Given the description of an element on the screen output the (x, y) to click on. 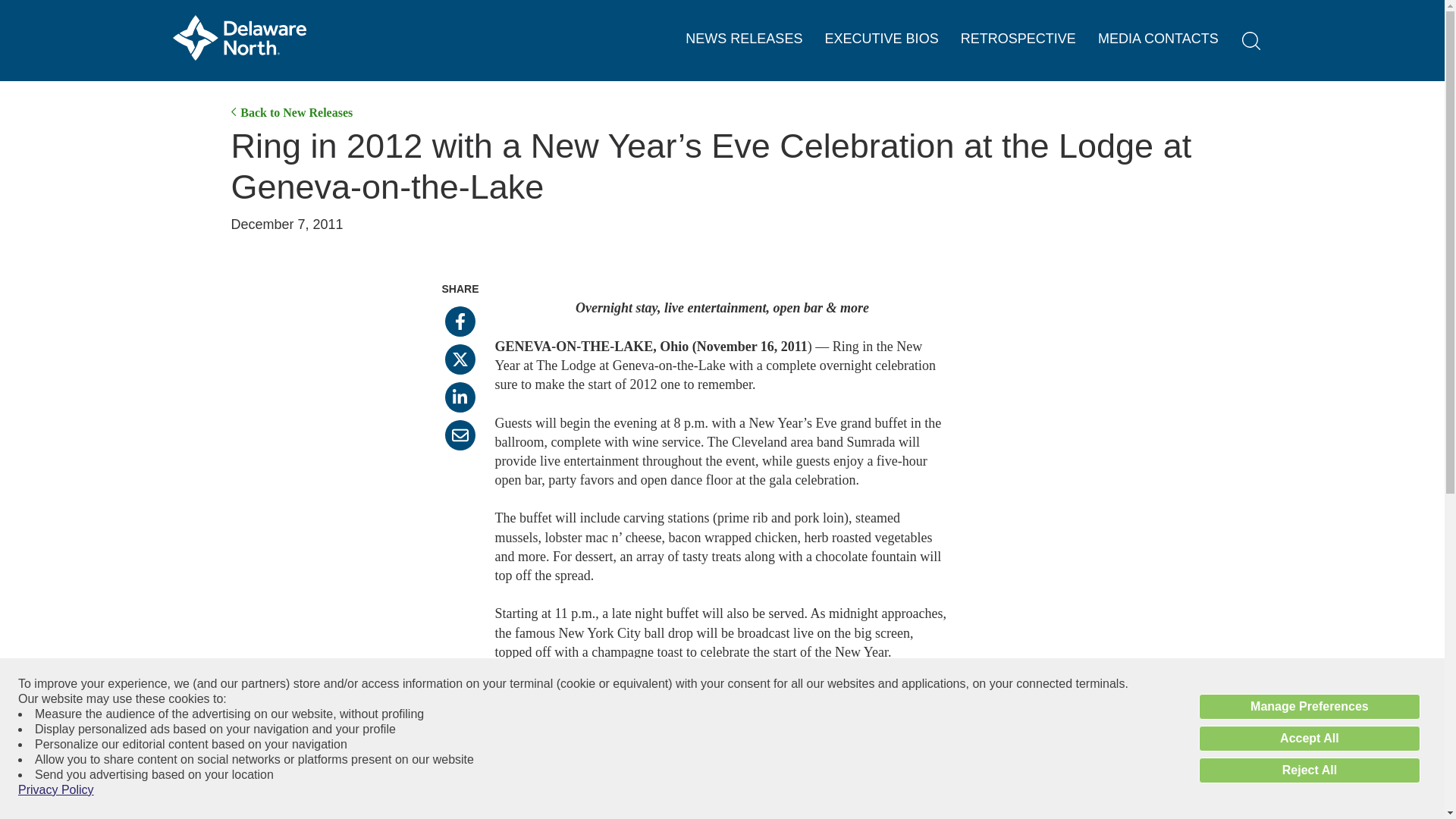
MEDIA CONTACTS (1157, 39)
NEWS RELEASES (743, 39)
RETROSPECTIVE (1017, 39)
EXECUTIVE BIOS (882, 39)
Privacy Policy (55, 789)
Back to New Releases (291, 112)
Reject All (1309, 769)
Manage Preferences (1309, 706)
www.thelodgeatgeneva.com (572, 727)
Accept All (1309, 738)
